Given the description of an element on the screen output the (x, y) to click on. 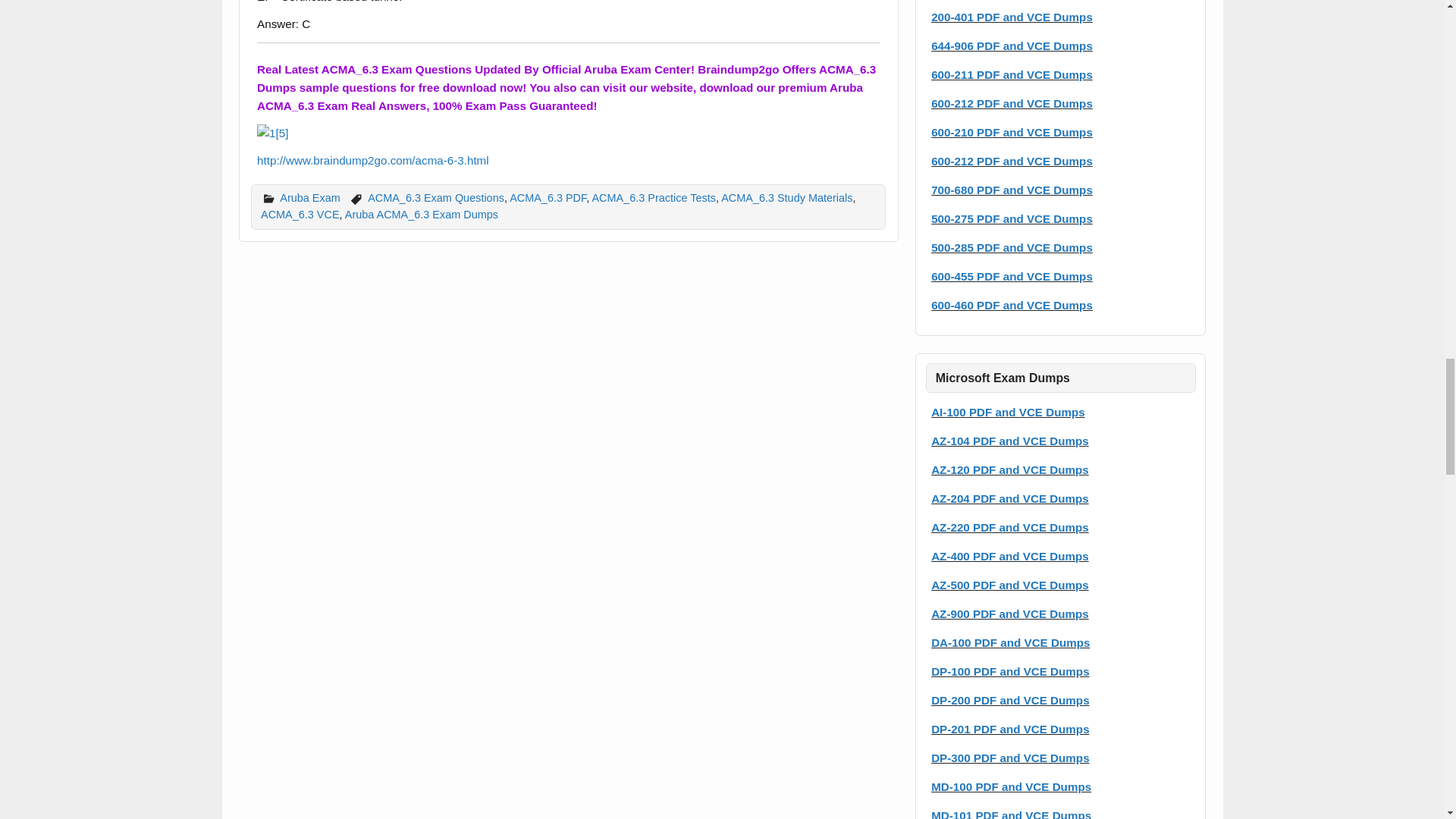
Aruba Exam (309, 197)
